Given the description of an element on the screen output the (x, y) to click on. 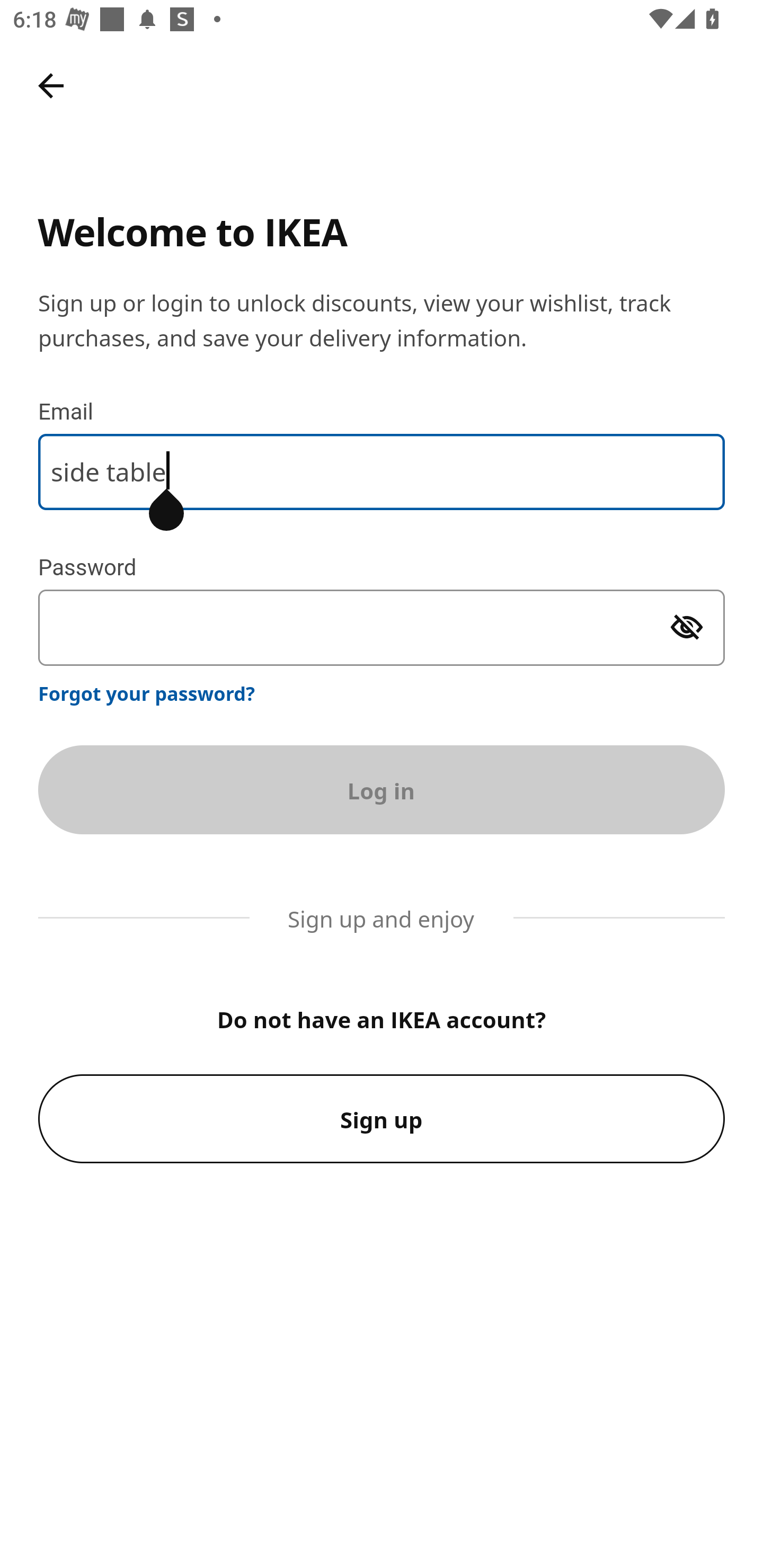
side table (381, 471)
Forgot your password? (146, 692)
Log in (381, 789)
Sign up (381, 1118)
